Given the description of an element on the screen output the (x, y) to click on. 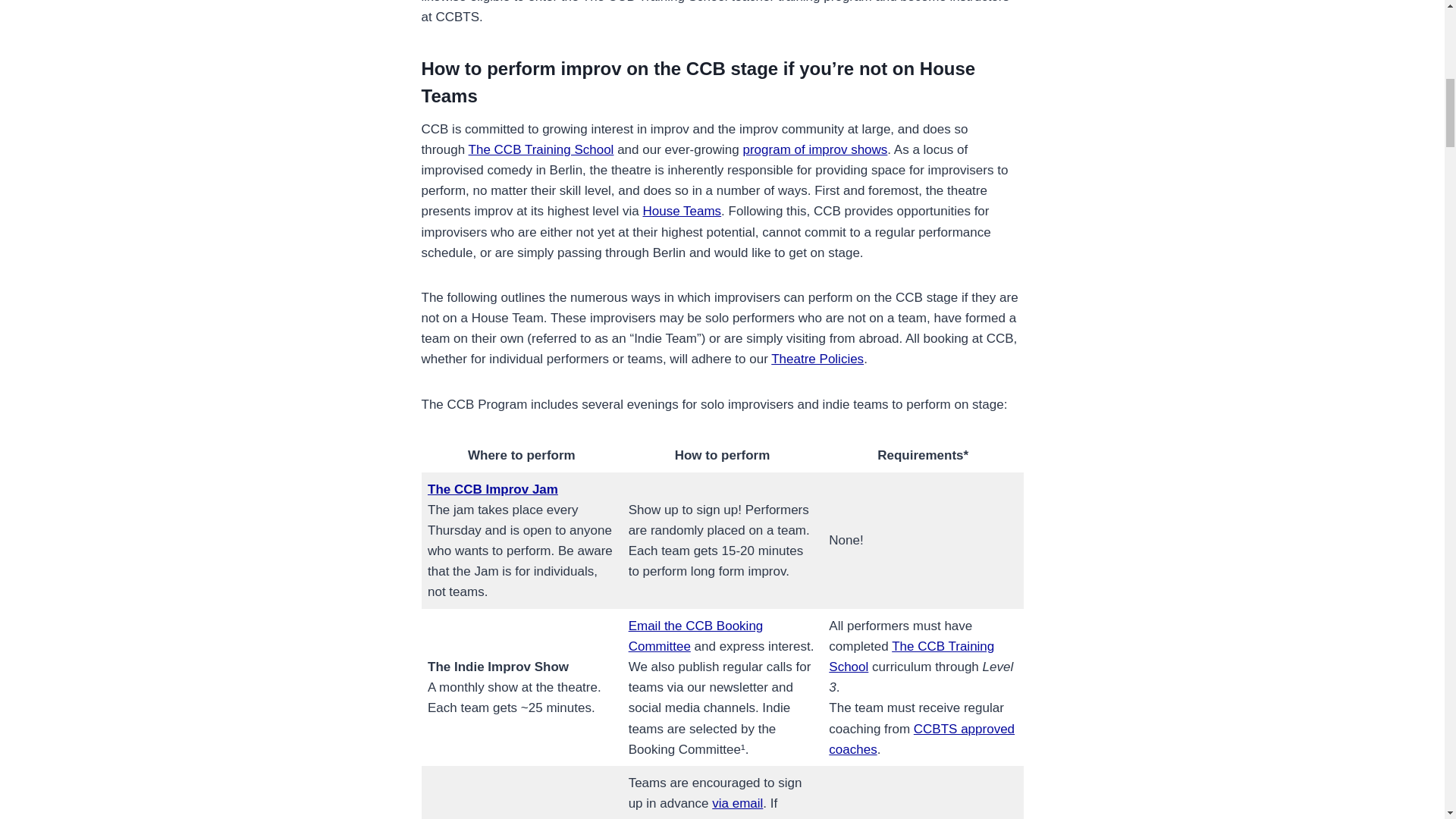
The CCB Training School (541, 149)
Email the CCB Booking Committee (695, 636)
The CCB Improv Jam (492, 489)
The CCB Training School (911, 656)
program of improv shows (815, 149)
House Teams (681, 210)
Theatre Policies (817, 359)
via email (736, 803)
CCBTS approved coaches (921, 738)
